Given the description of an element on the screen output the (x, y) to click on. 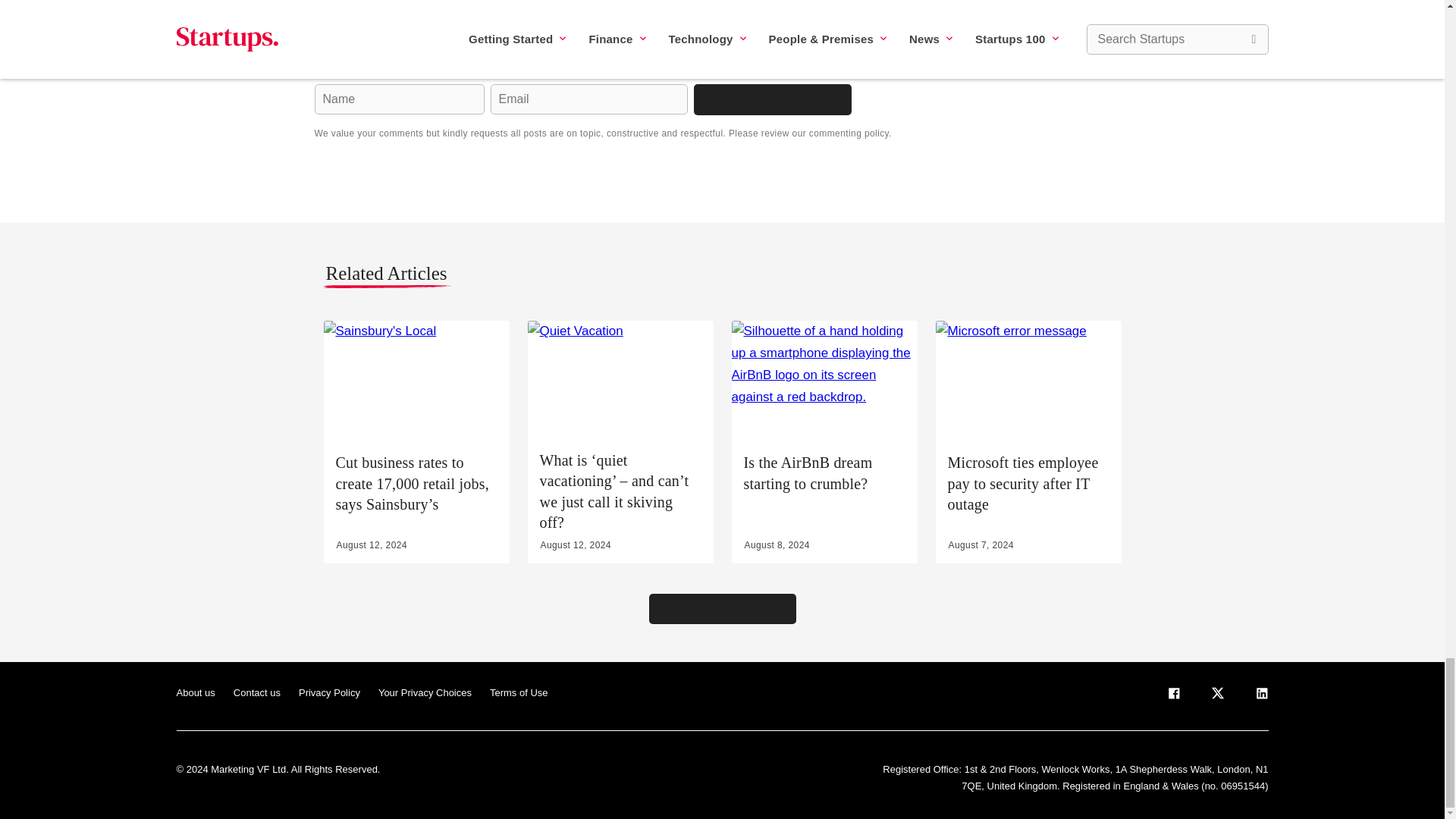
linkedin (1260, 696)
facebook (1172, 696)
twitter-x (1216, 696)
Post Comment (771, 99)
